Given the description of an element on the screen output the (x, y) to click on. 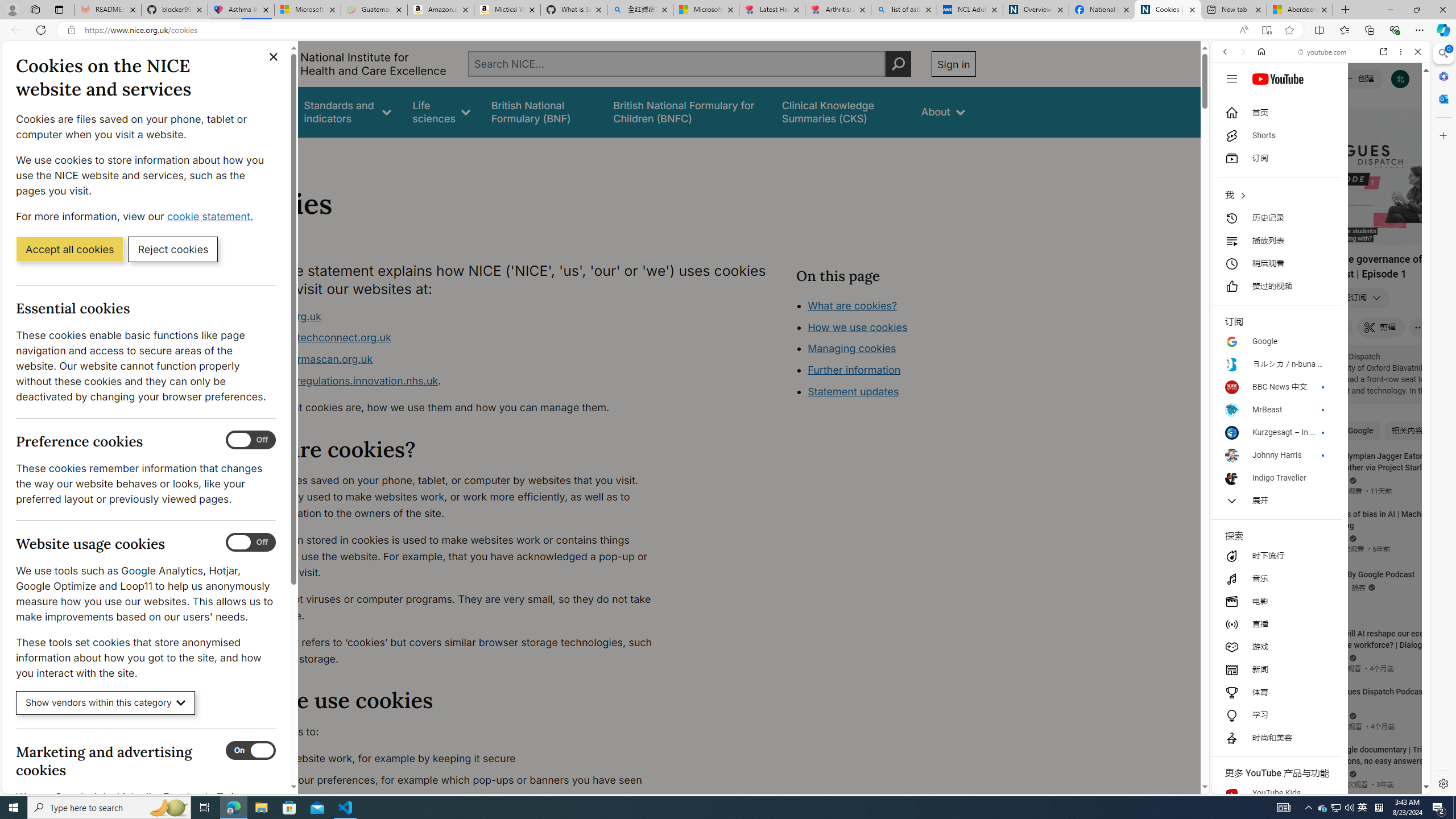
Indigo Traveller (1275, 477)
Actions for this site (1371, 661)
About (942, 111)
#you (1320, 253)
Preferences (1403, 129)
AutomationID: button (1231, 78)
Home> (246, 152)
